Given the description of an element on the screen output the (x, y) to click on. 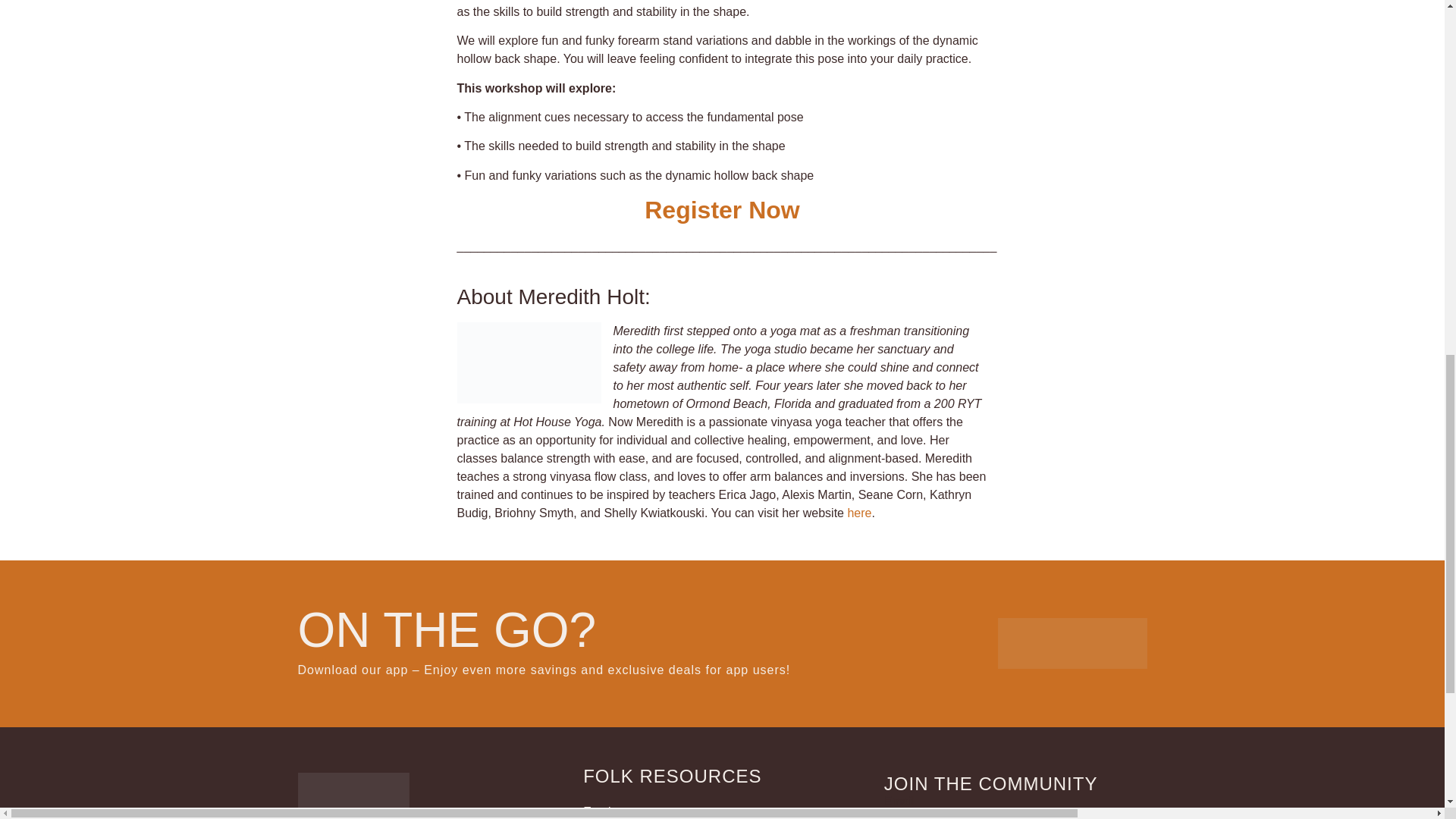
Name of Event (722, 209)
